Given the description of an element on the screen output the (x, y) to click on. 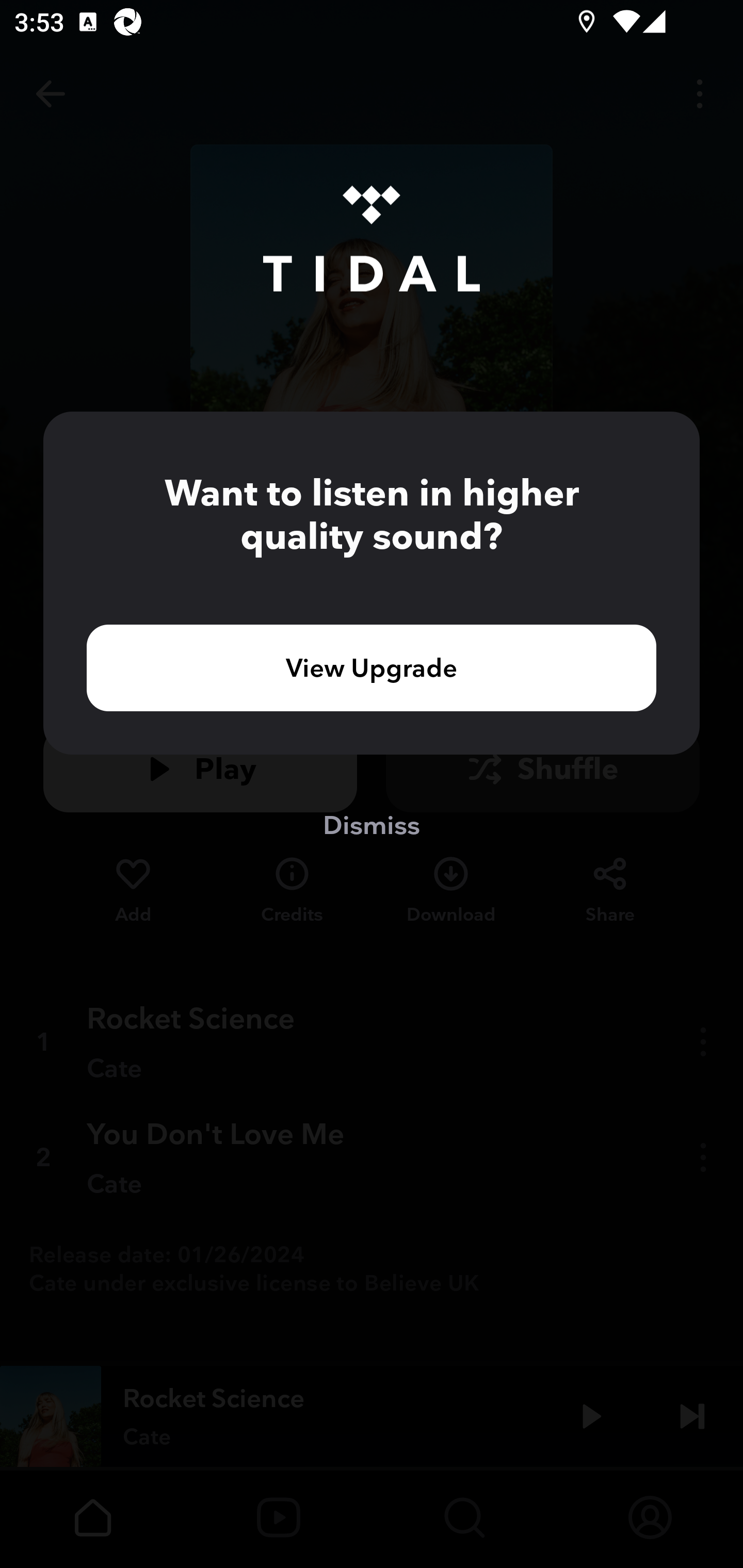
View Upgrade (371, 667)
Dismiss (371, 824)
